Given the description of an element on the screen output the (x, y) to click on. 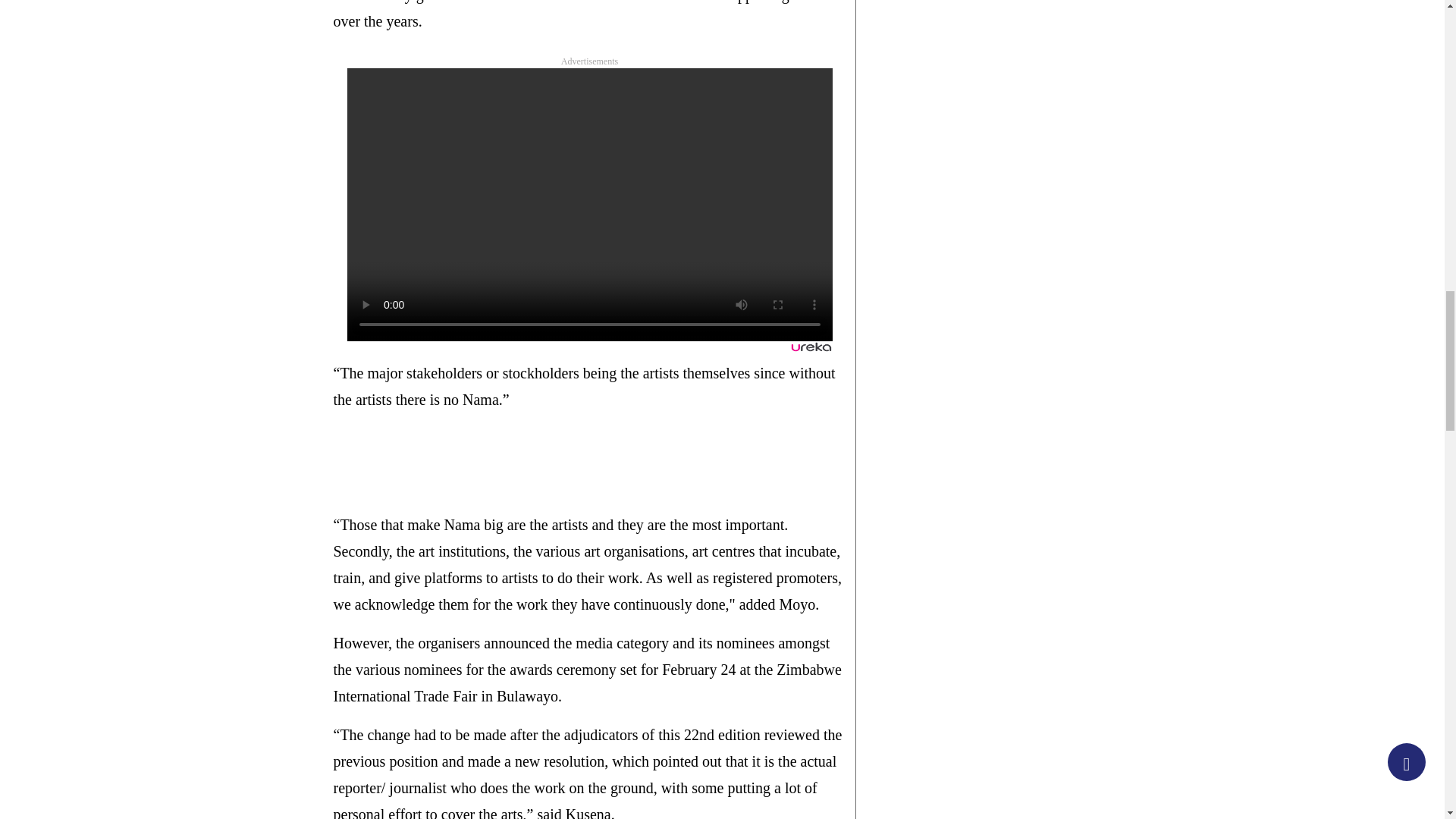
3rd party ad content (609, 462)
